Given the description of an element on the screen output the (x, y) to click on. 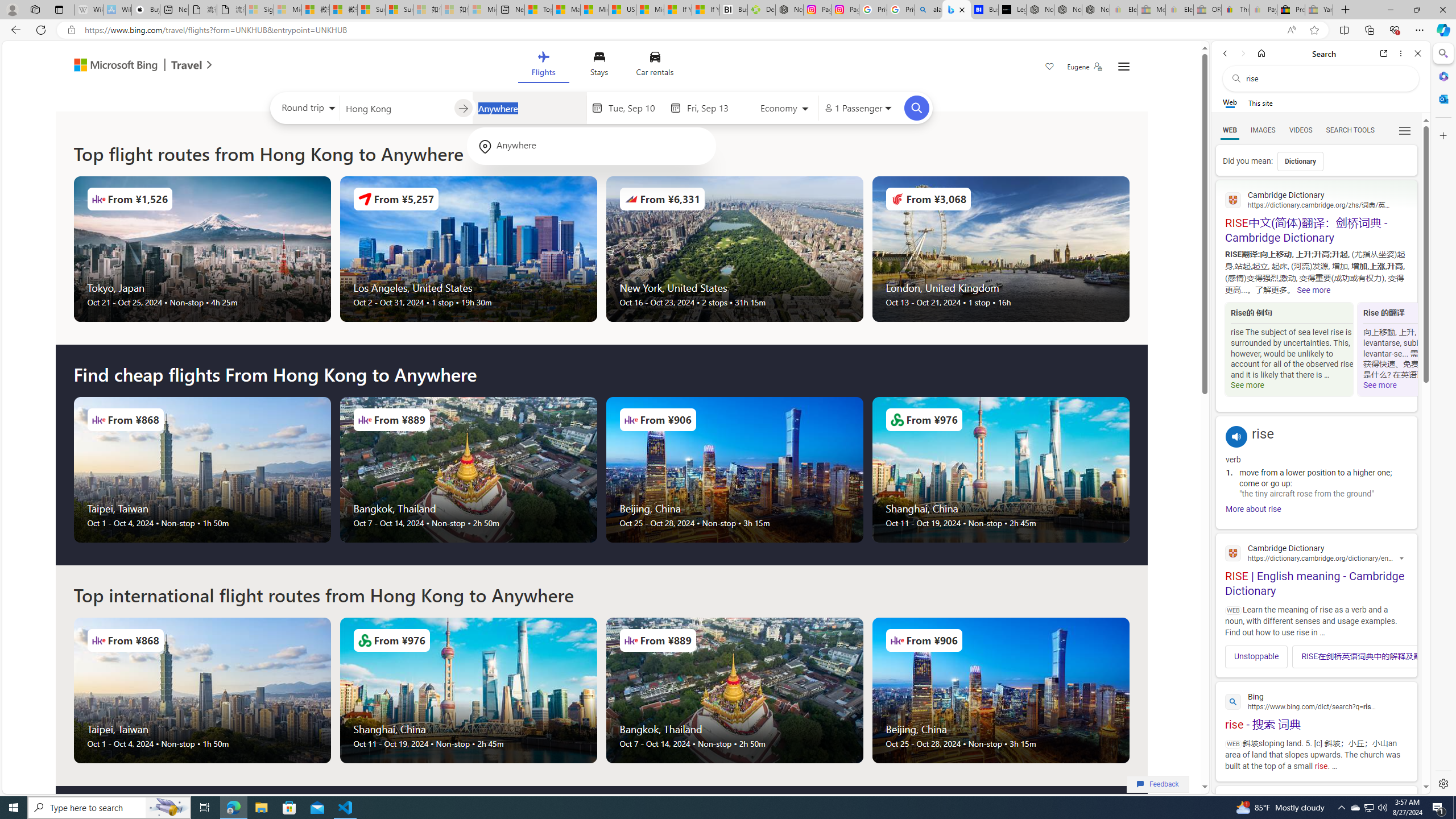
Cambridge Dictionary (1315, 552)
Microsoft Bing (110, 65)
Start Date (636, 107)
Going to? (528, 107)
